Given the description of an element on the screen output the (x, y) to click on. 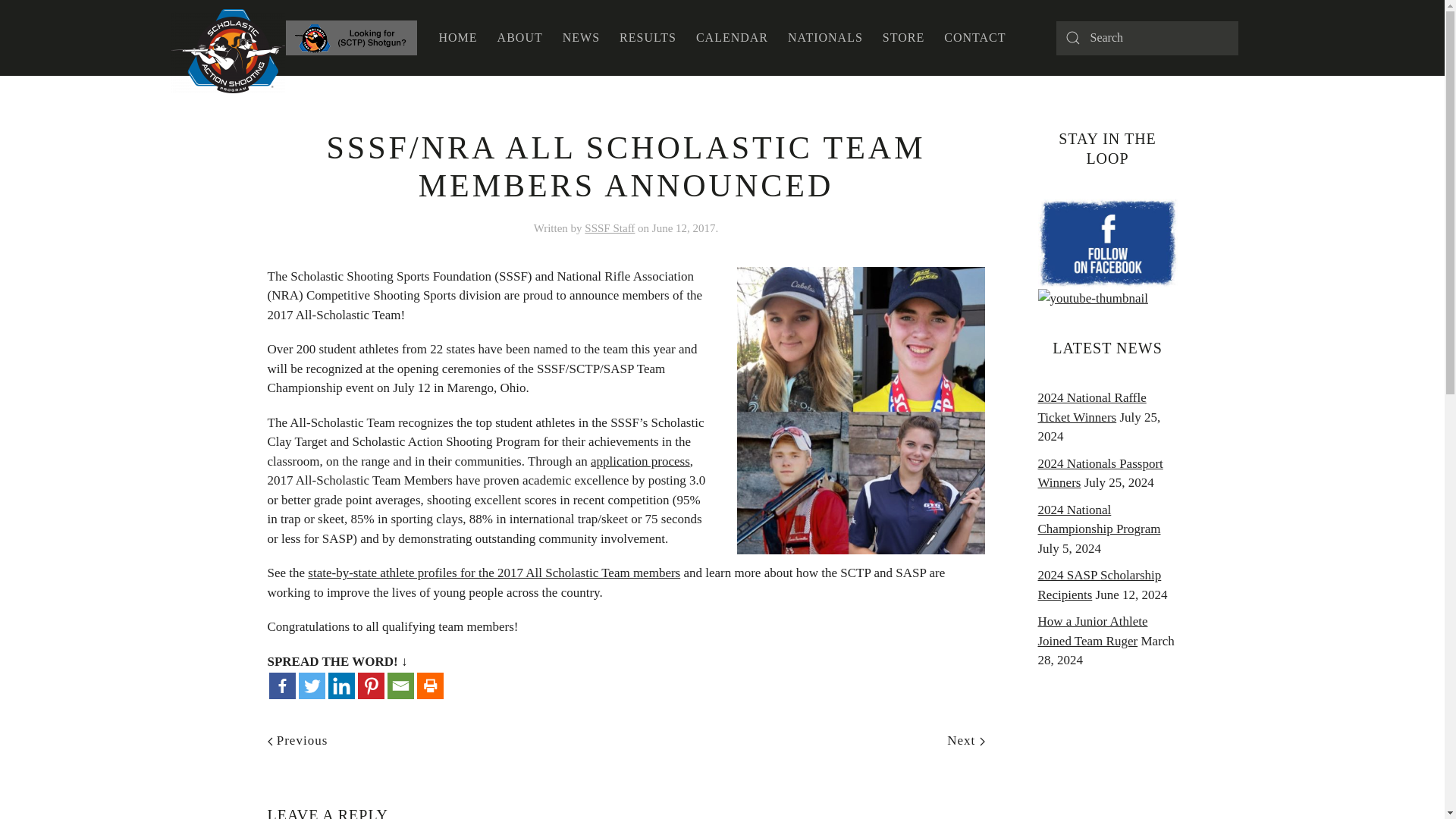
Email (400, 685)
RESULTS (647, 38)
Pinterest (371, 685)
SSSF Staff (609, 227)
Twitter (311, 685)
CONTACT (974, 38)
NATIONALS (824, 38)
Print (430, 685)
CALENDAR (731, 38)
Linkedin (340, 685)
